Given the description of an element on the screen output the (x, y) to click on. 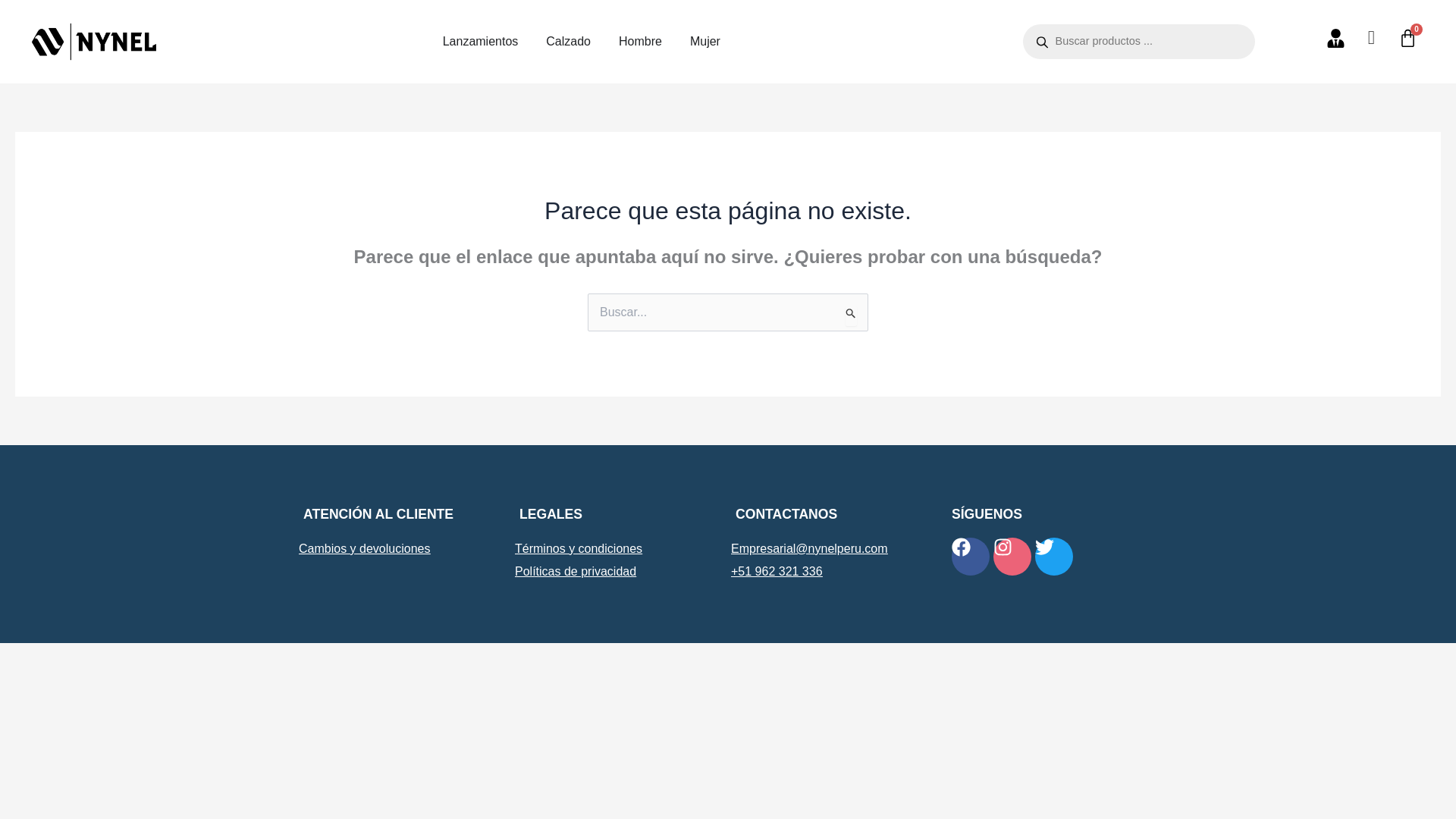
Calzado (568, 41)
Buscar (850, 314)
Buscar (850, 314)
Lanzamientos (480, 41)
